Given the description of an element on the screen output the (x, y) to click on. 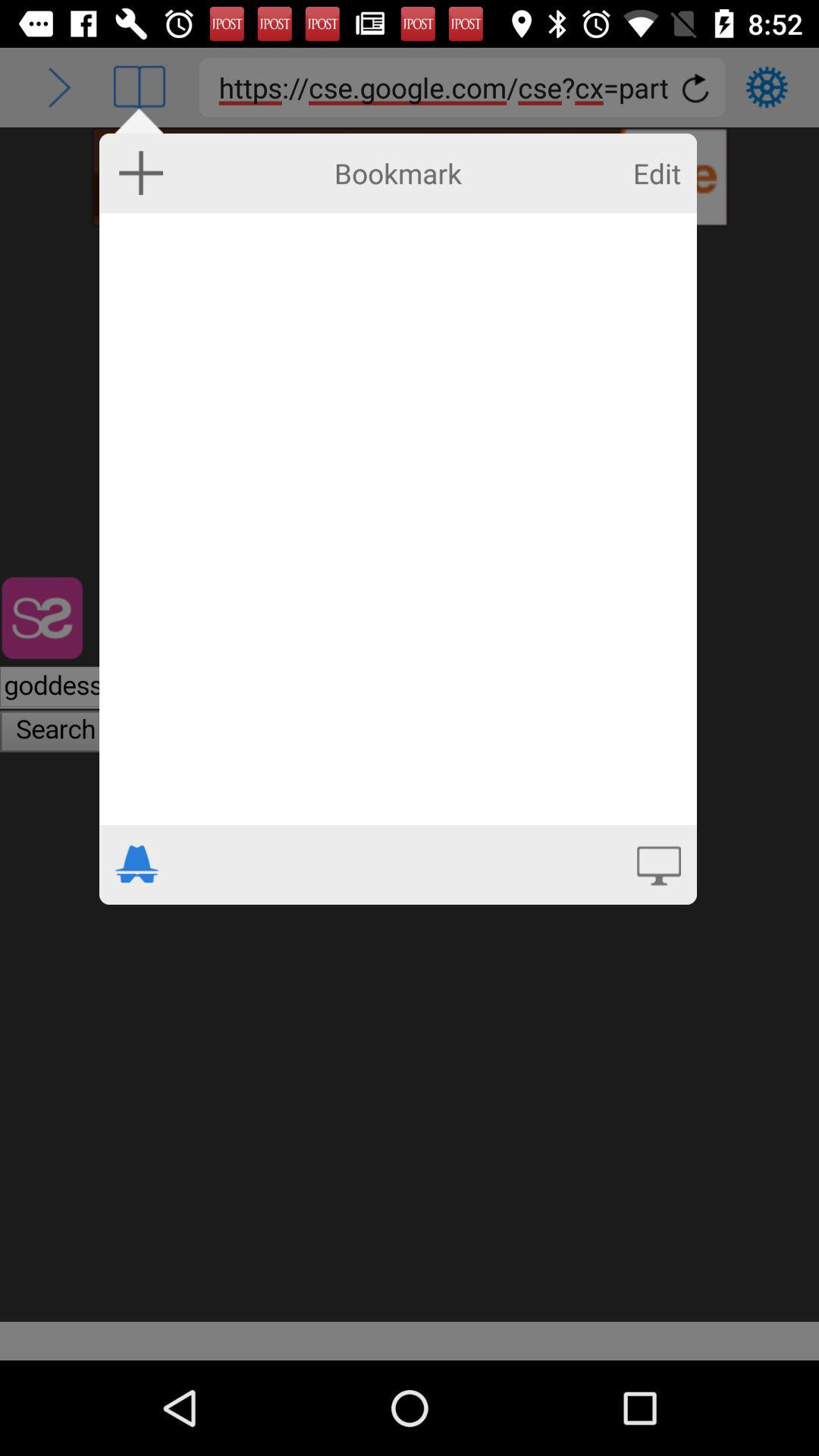
open icon to the right of bookmark icon (656, 172)
